Given the description of an element on the screen output the (x, y) to click on. 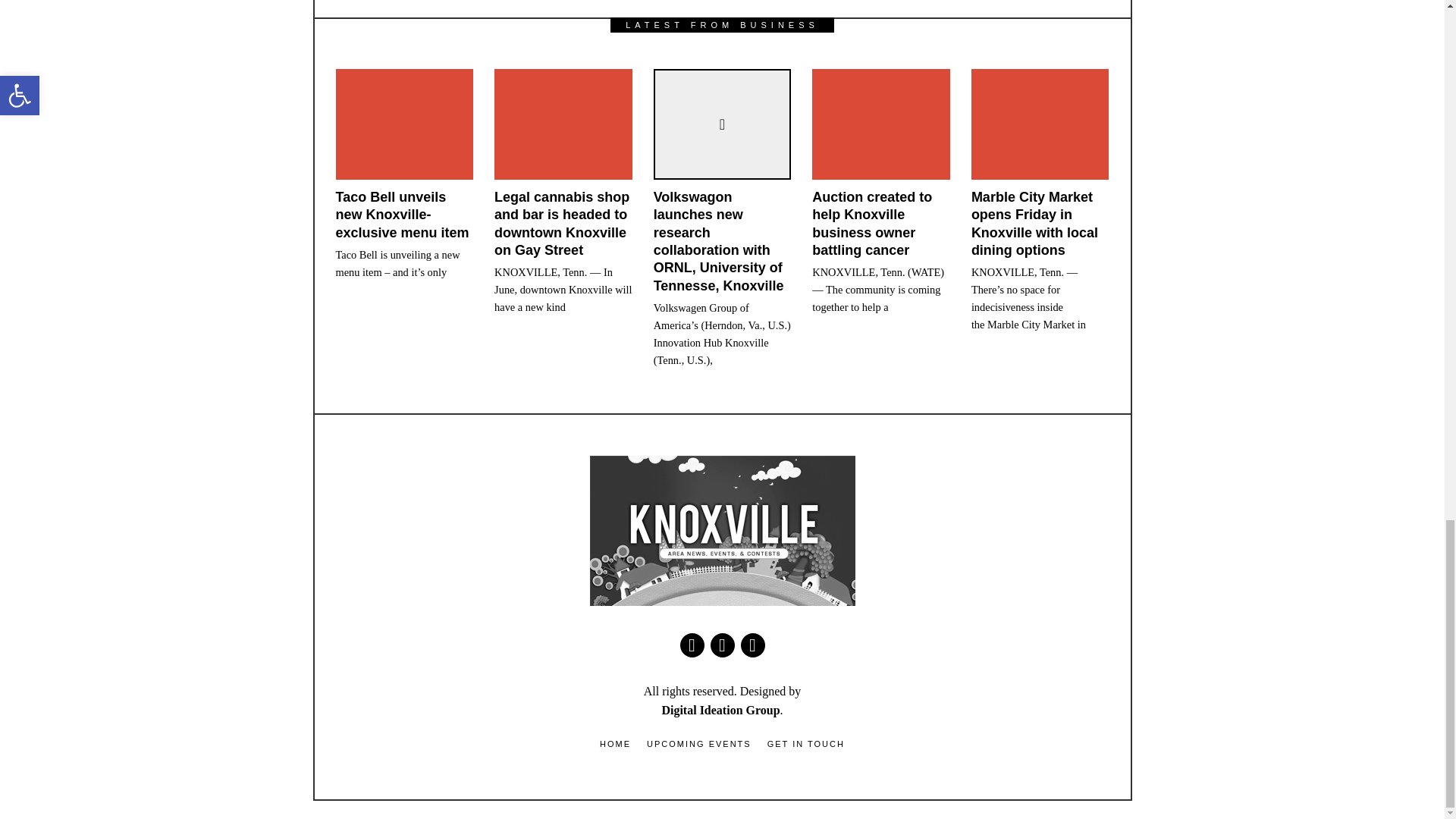
Email (751, 645)
Homepage (721, 645)
Facebook (691, 645)
